Given the description of an element on the screen output the (x, y) to click on. 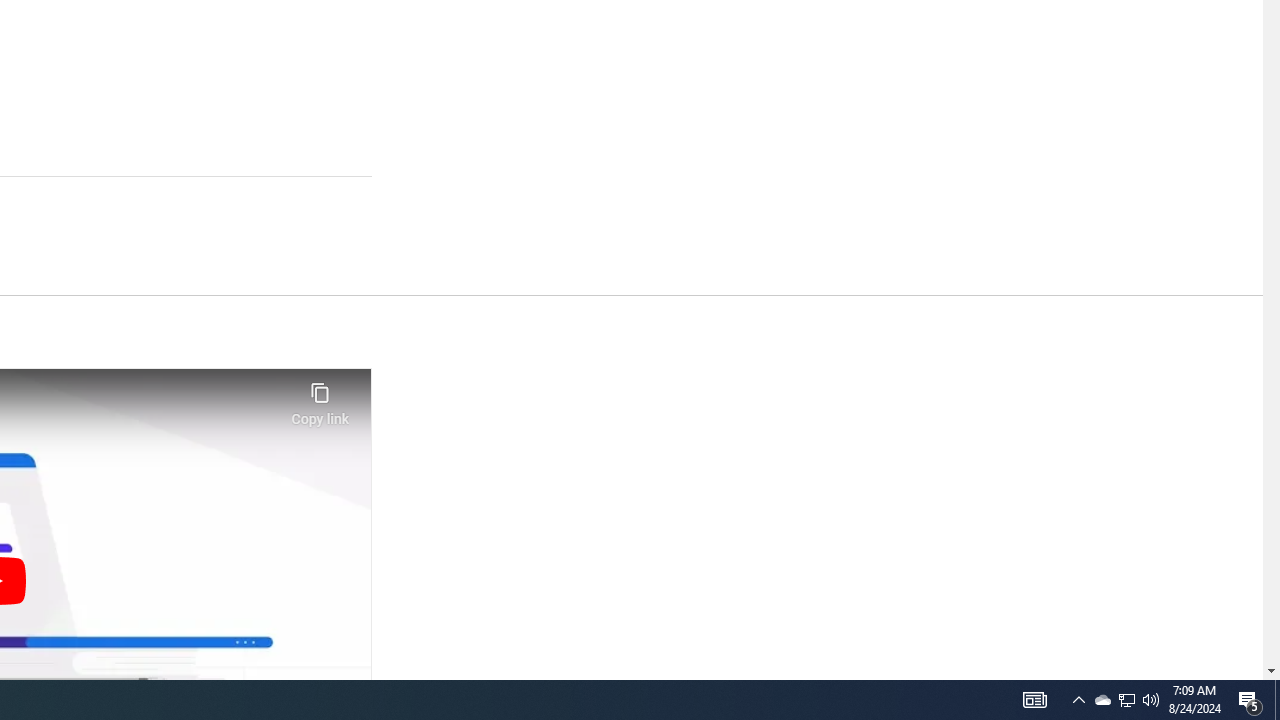
Copy link (319, 398)
